Given the description of an element on the screen output the (x, y) to click on. 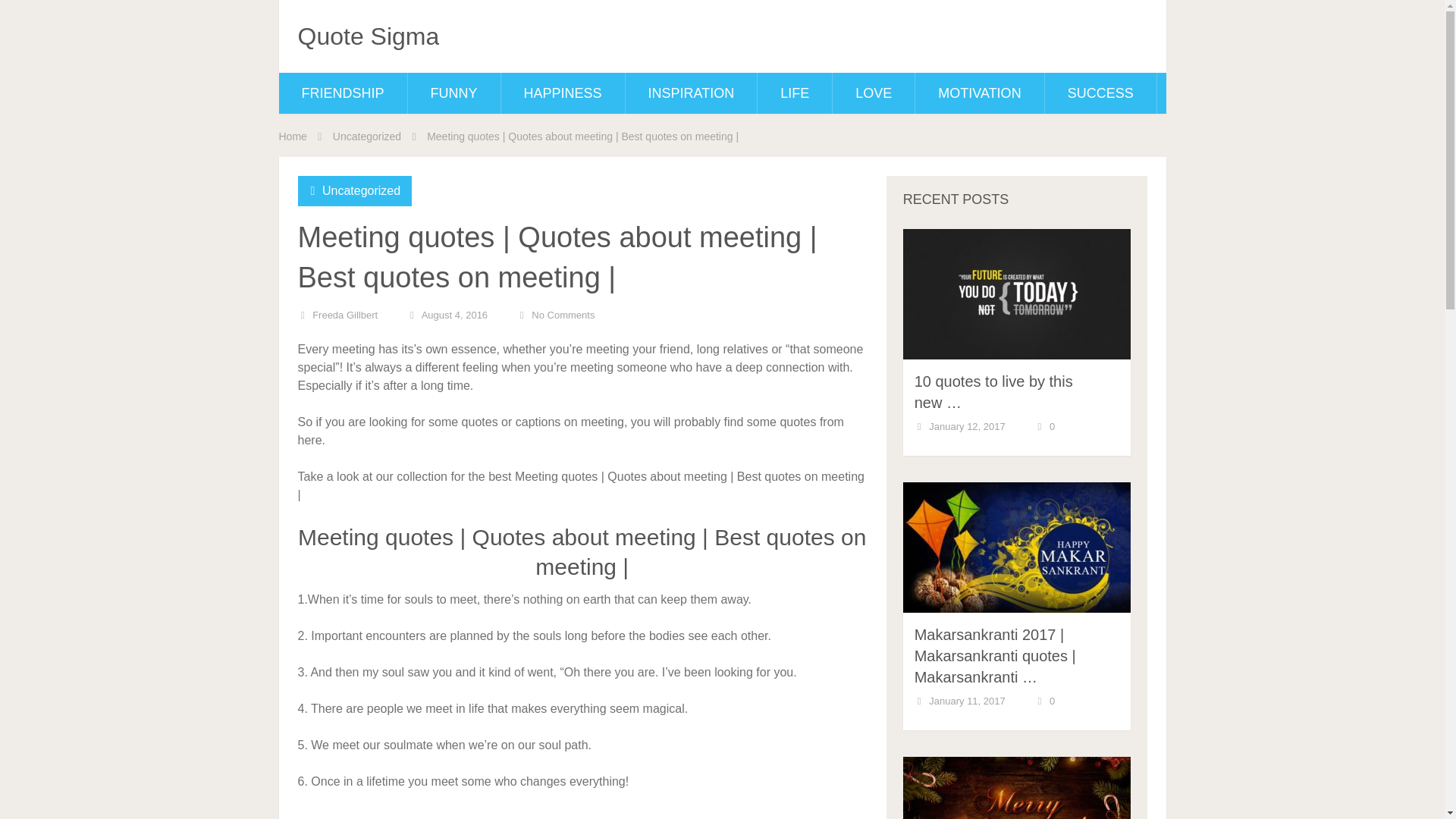
Uncategorized (367, 136)
Home (293, 136)
HAPPINESS (562, 92)
FRIENDSHIP (343, 92)
SUCCESS (1100, 92)
Freeda Gillbert (345, 315)
No Comments (562, 315)
MOTIVATION (979, 92)
Uncategorized (360, 190)
FUNNY (453, 92)
LOVE (873, 92)
10 quotes to live by this new year (993, 392)
Quote Sigma (368, 36)
LIFE (794, 92)
Posts by Freeda Gillbert (345, 315)
